Given the description of an element on the screen output the (x, y) to click on. 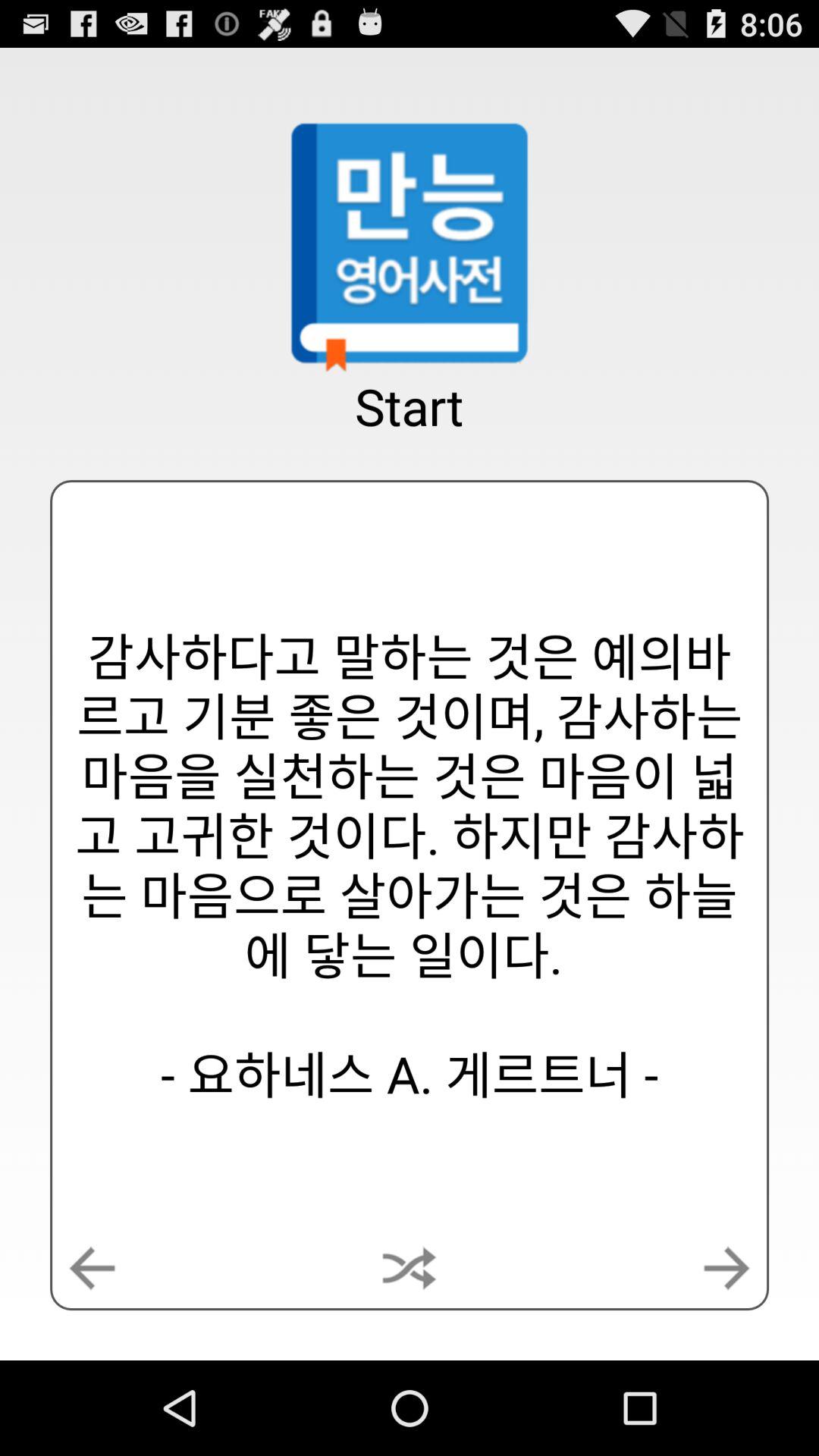
tap the button at the bottom left corner (91, 1268)
